Given the description of an element on the screen output the (x, y) to click on. 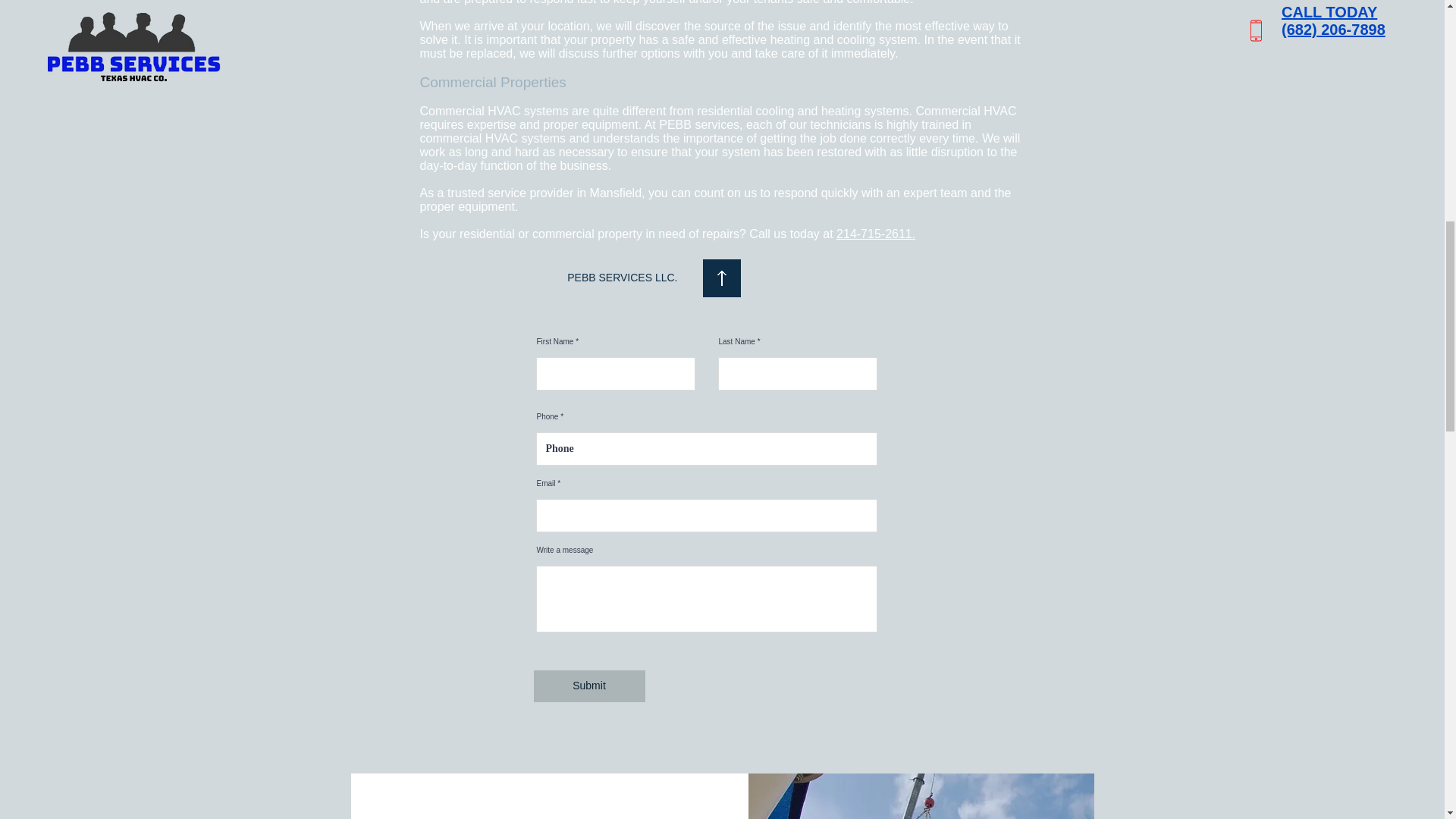
214-715-2611. (875, 233)
Event Tent (920, 793)
Submit (589, 685)
